Given the description of an element on the screen output the (x, y) to click on. 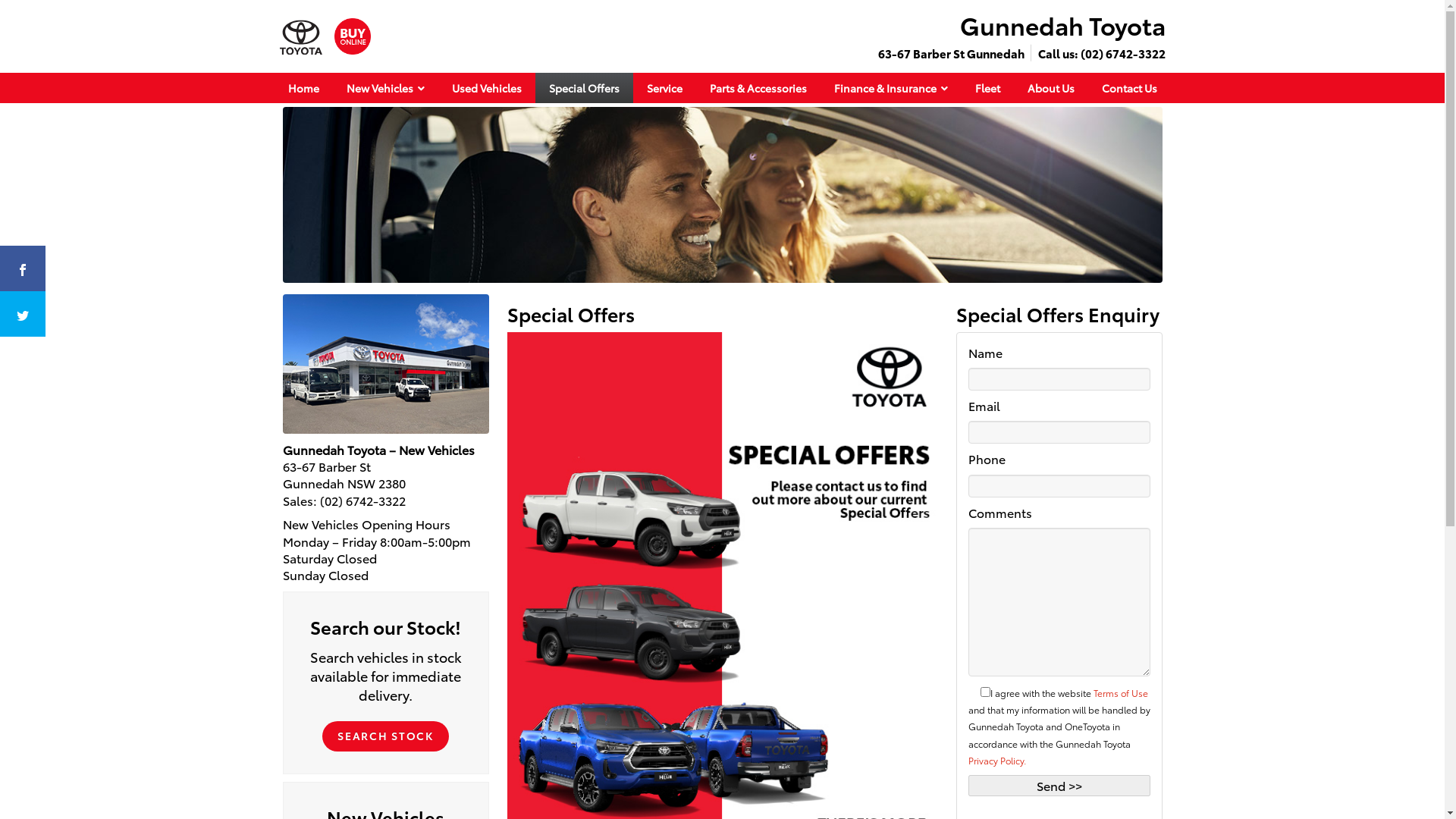
Service Element type: text (663, 87)
New Vehicles Element type: text (384, 87)
(02) 6742-3322 Element type: text (1121, 52)
Fleet Element type: text (987, 87)
Contact Us Element type: text (1128, 87)
Used Vehicles Element type: text (486, 87)
SEARCH STOCK Element type: text (385, 725)
Finance & Insurance Element type: text (890, 87)
Privacy Policy. Element type: text (996, 759)
Parts & Accessories Element type: text (758, 87)
Terms of Use Element type: text (1120, 692)
Send >> Element type: text (1058, 785)
Special Offers Element type: text (584, 87)
About Us Element type: text (1050, 87)
(02) 6742-3322 Element type: text (362, 499)
Home Element type: text (303, 87)
